Given the description of an element on the screen output the (x, y) to click on. 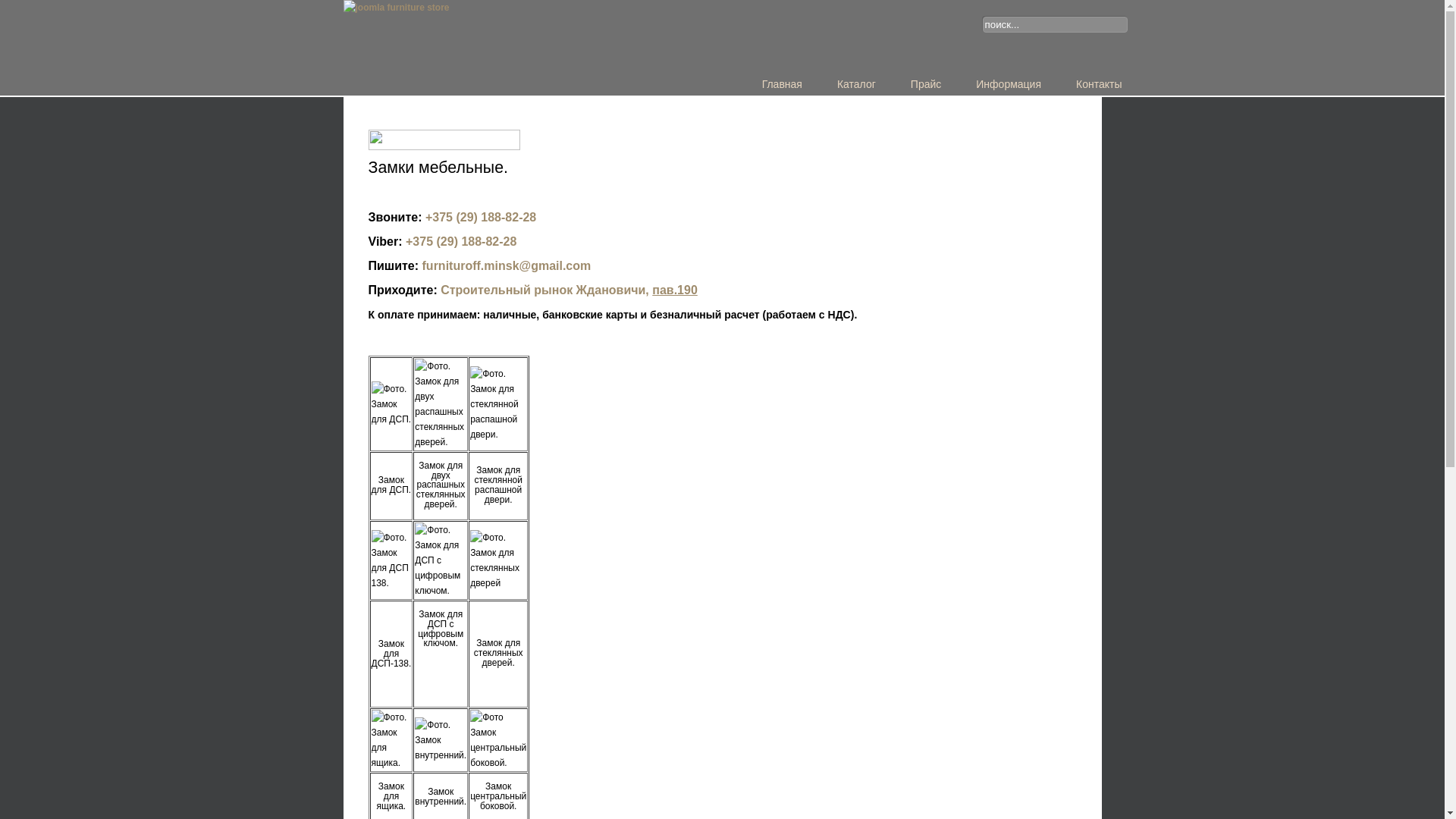
+375 (29) 188-82-28 Element type: text (480, 216)
furnituroff.minsk@gmail.com Element type: text (506, 265)
+375 (29) 188-82-28 Element type: text (460, 241)
